Given the description of an element on the screen output the (x, y) to click on. 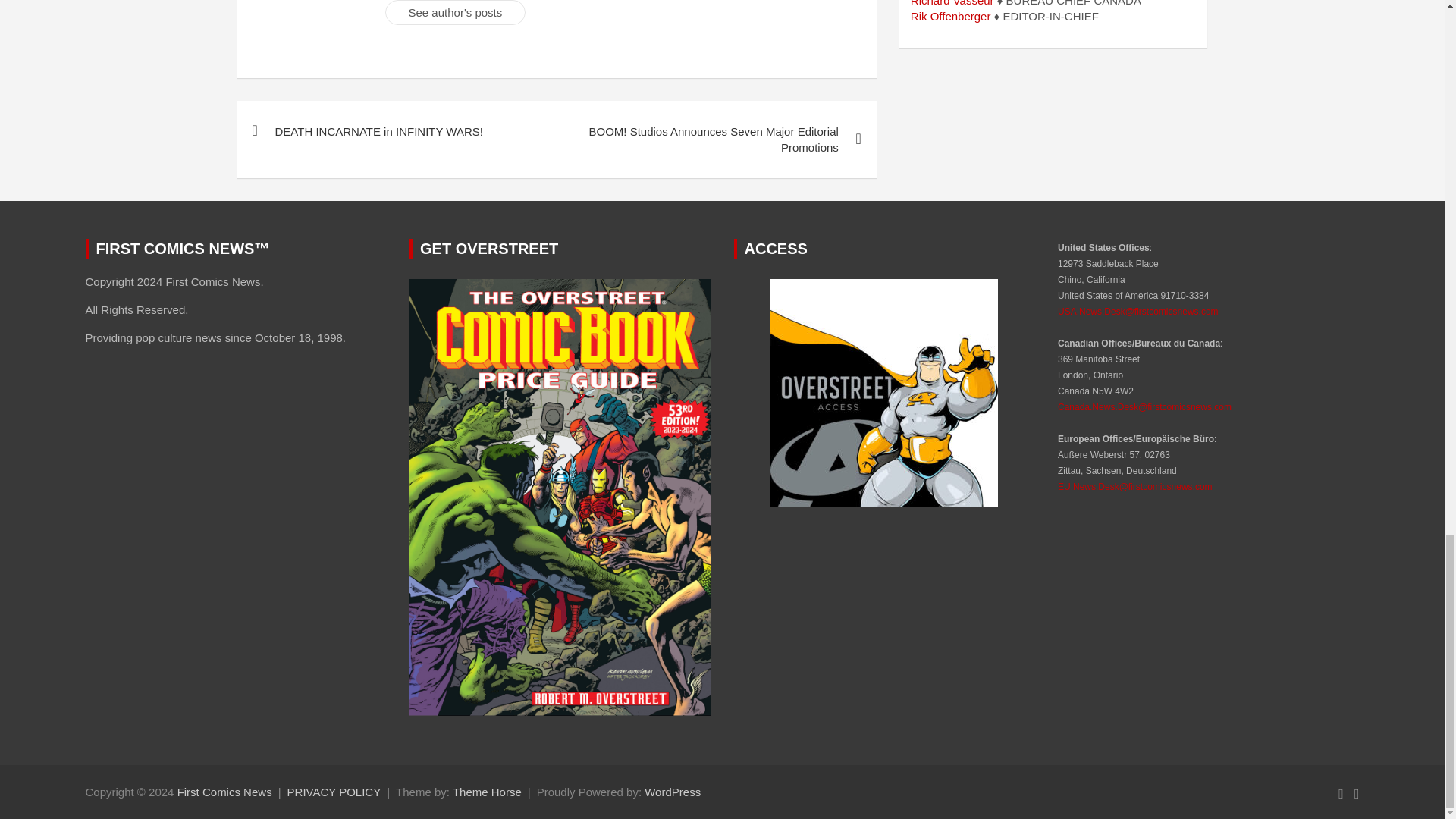
Theme Horse (486, 791)
First Comics News (224, 791)
WordPress (672, 791)
